Given the description of an element on the screen output the (x, y) to click on. 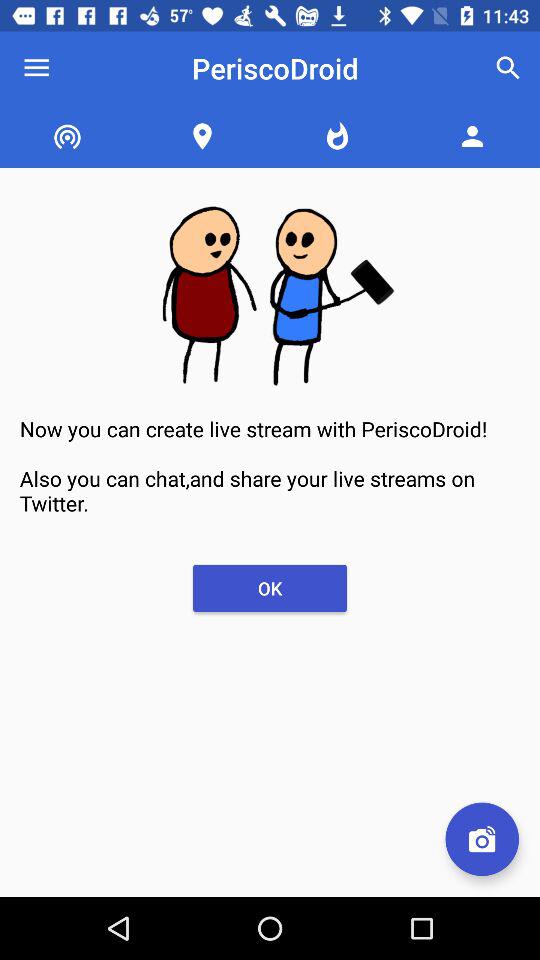
turn on icon to the left of periscodroid icon (36, 68)
